Given the description of an element on the screen output the (x, y) to click on. 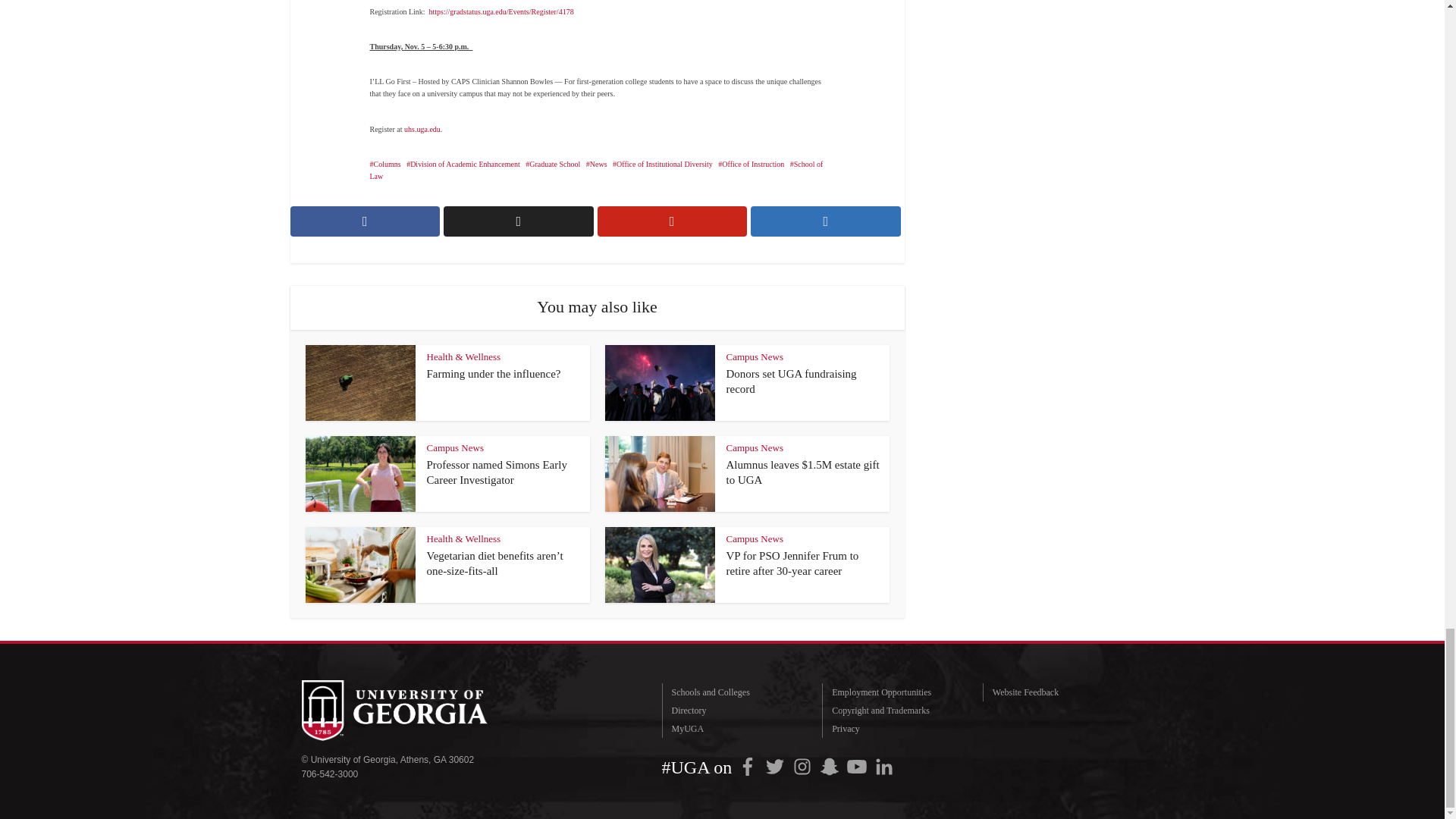
Instagram (801, 766)
uhs.uga.edu.   (424, 129)
Professor named Simons Early Career Investigator (496, 472)
Facebook (747, 766)
LinkedIn (883, 766)
Donors set UGA fundraising record (791, 380)
Twitter (774, 766)
VP for PSO Jennifer Frum to retire after 30-year career (792, 563)
YouTube (856, 766)
Instagram (801, 766)
Facebook (747, 766)
Snapchat (829, 766)
Snapchat (829, 766)
Twitter (774, 766)
Farming under the influence? (493, 373)
